Given the description of an element on the screen output the (x, y) to click on. 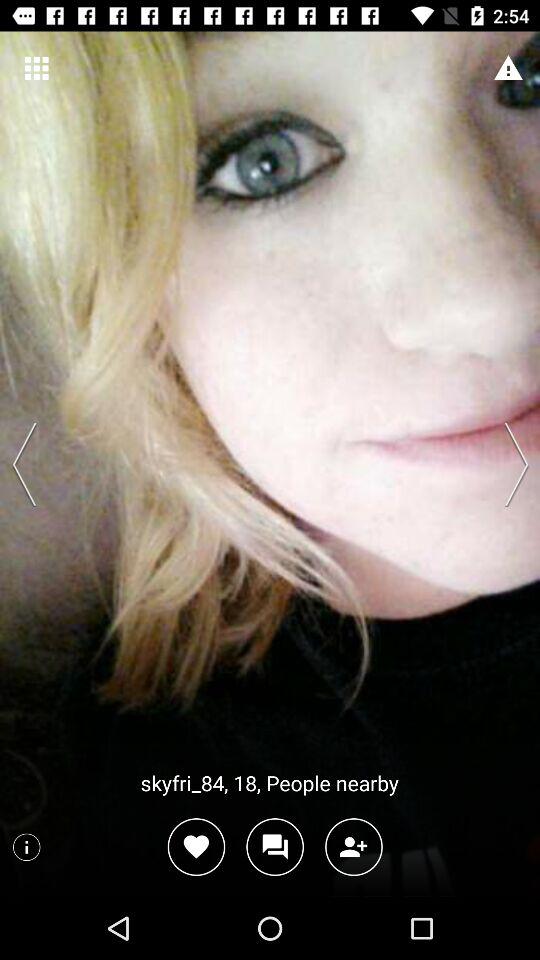
open the item at the top left corner (36, 68)
